Given the description of an element on the screen output the (x, y) to click on. 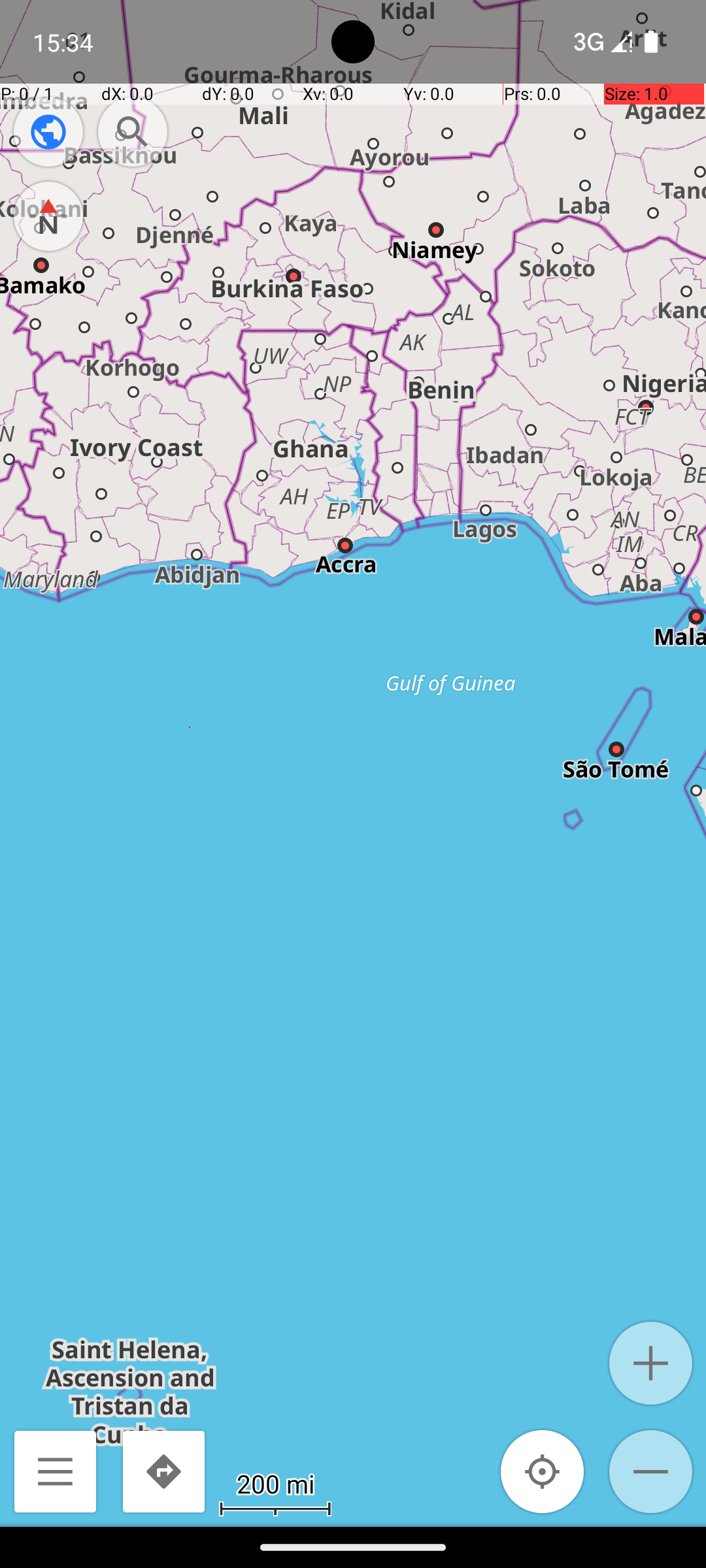
North is up Element type: android.widget.ImageButton (48, 216)
200 mi Element type: android.widget.TextView (274, 1483)
